Given the description of an element on the screen output the (x, y) to click on. 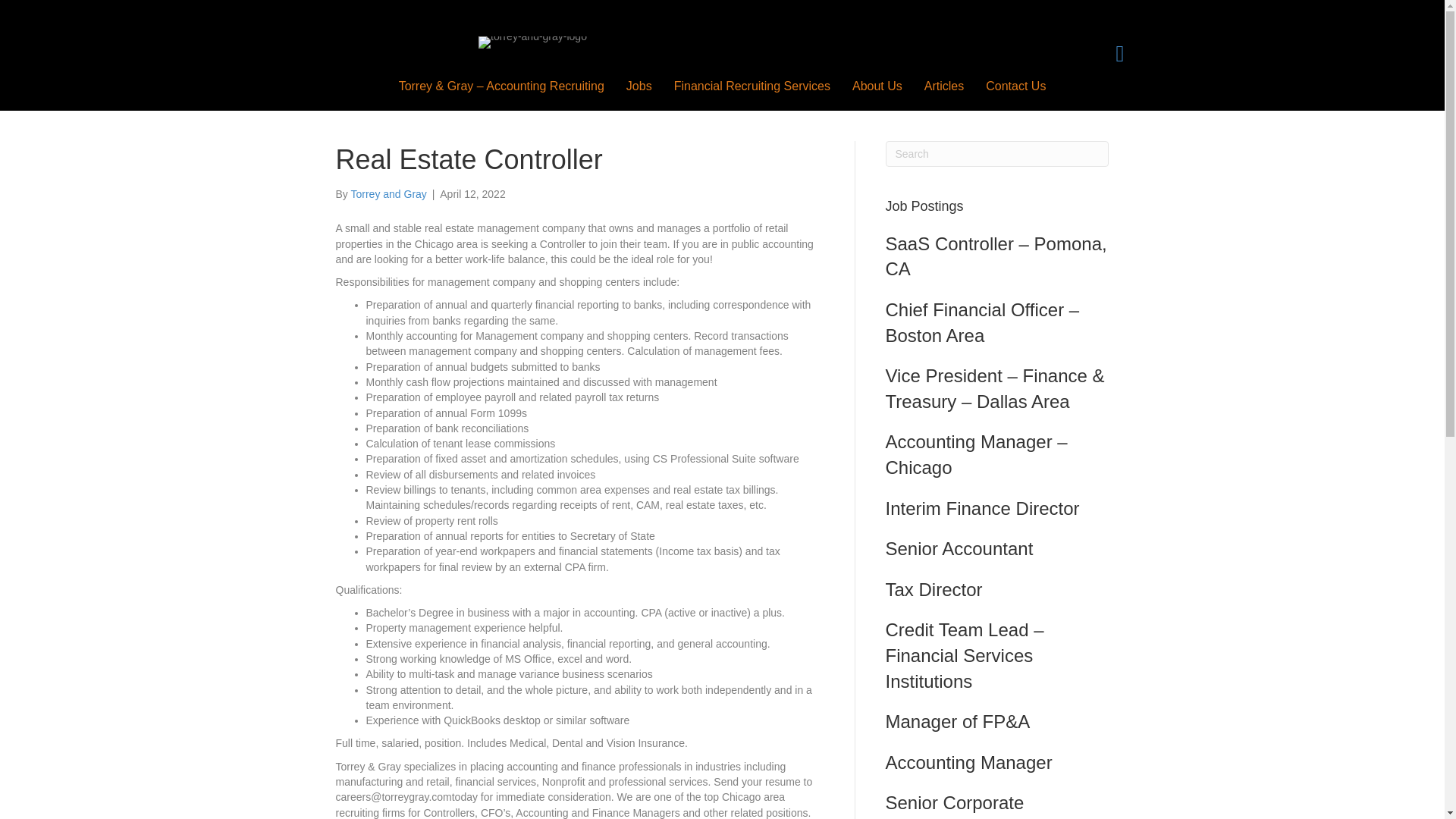
Interim Finance Director (982, 507)
About Us (876, 86)
Jobs (638, 86)
Torrey and Gray (388, 193)
Senior Corporate Accountant (955, 805)
Type and press Enter to search. (997, 153)
Financial Recruiting Services (752, 86)
Tax Director (933, 589)
Senior Accountant (959, 548)
Accounting Manager (968, 762)
